Given the description of an element on the screen output the (x, y) to click on. 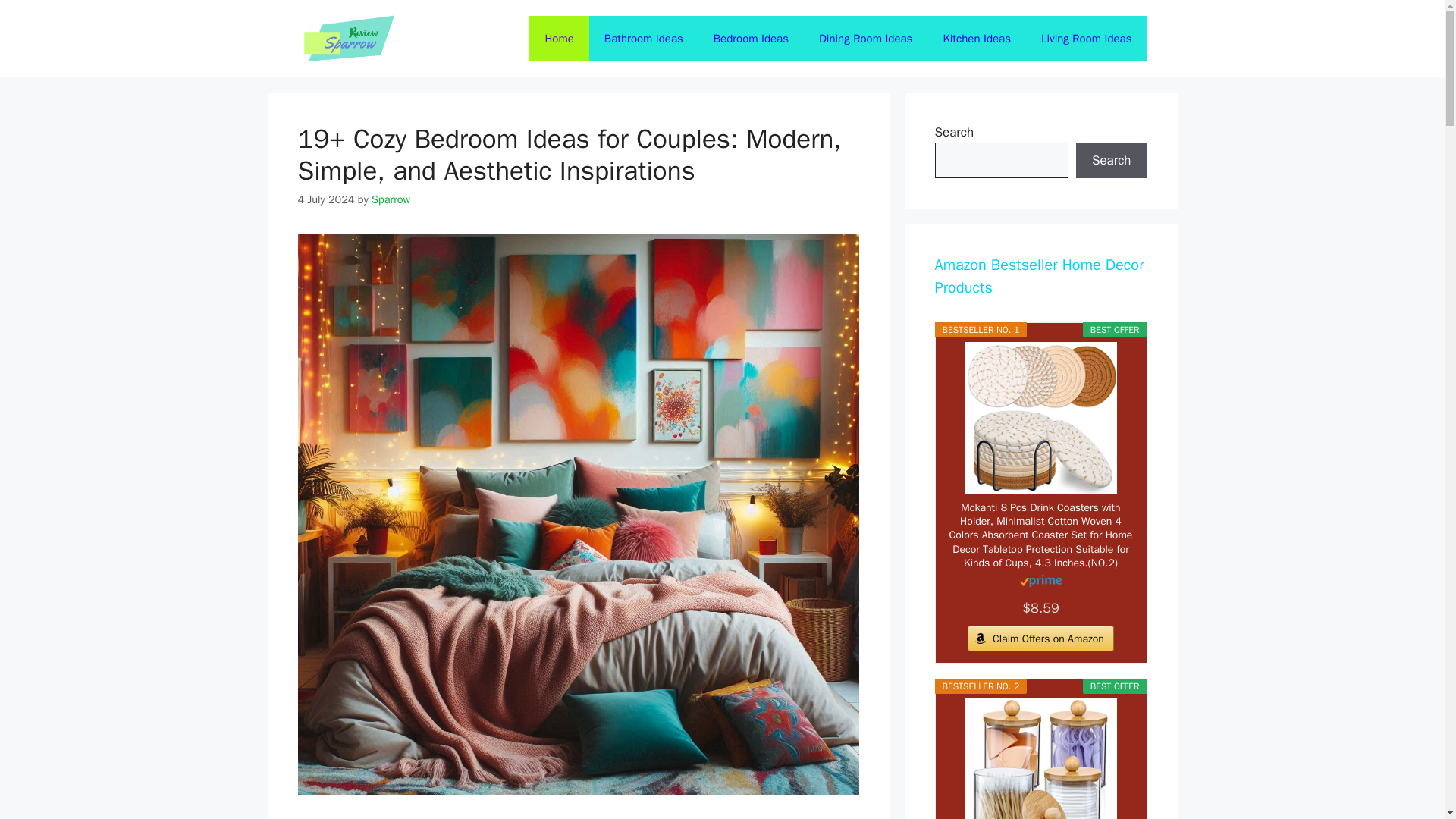
Dining Room Ideas (865, 38)
Kitchen Ideas (976, 38)
Bathroom Ideas (643, 38)
Bedroom Ideas (750, 38)
View all posts by Sparrow (390, 199)
Home (558, 38)
Living Room Ideas (1086, 38)
Sparrow (390, 199)
